Given the description of an element on the screen output the (x, y) to click on. 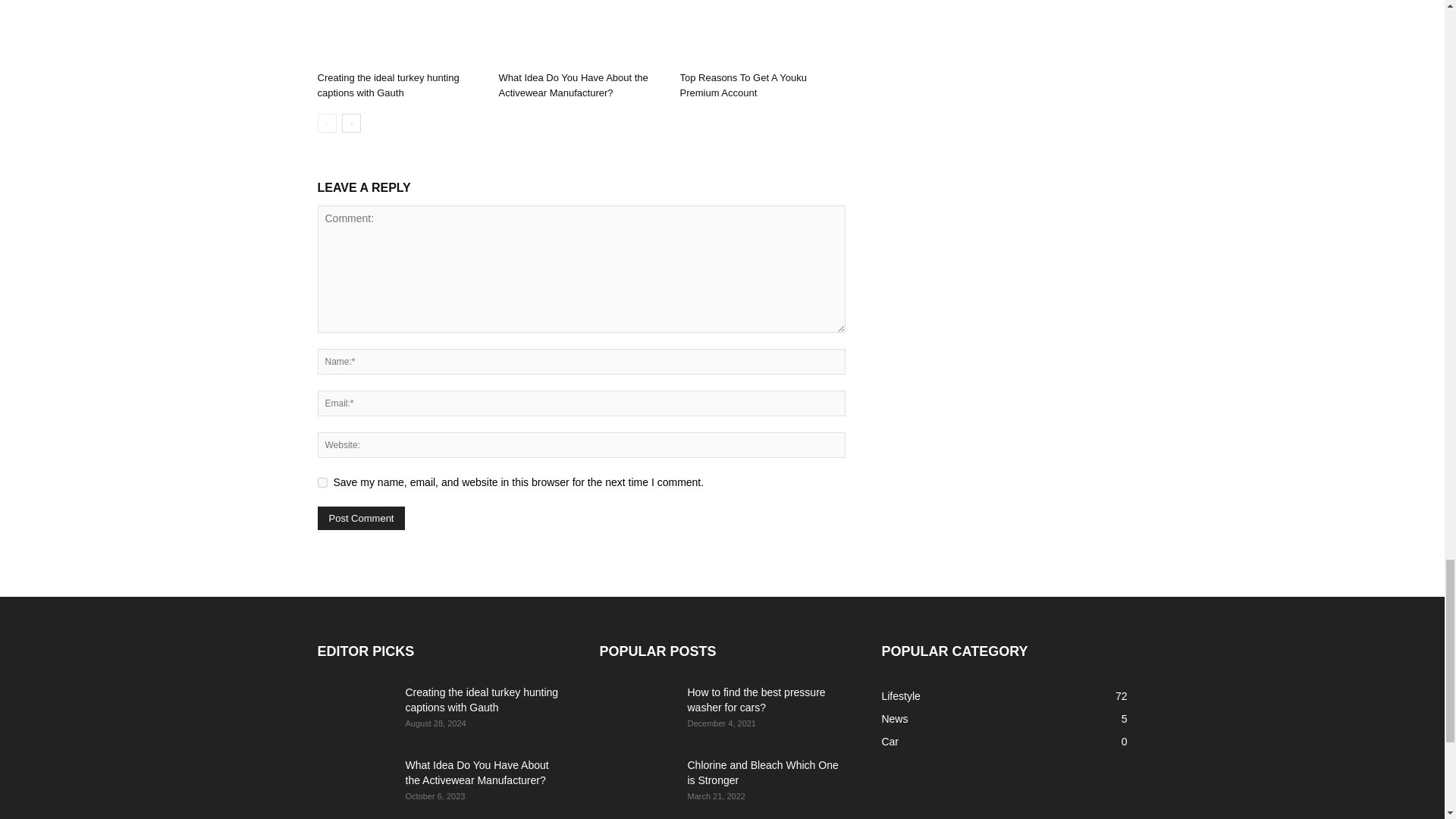
Post Comment (360, 517)
Creating the ideal turkey hunting captions with Gauth (399, 32)
yes (321, 482)
